Given the description of an element on the screen output the (x, y) to click on. 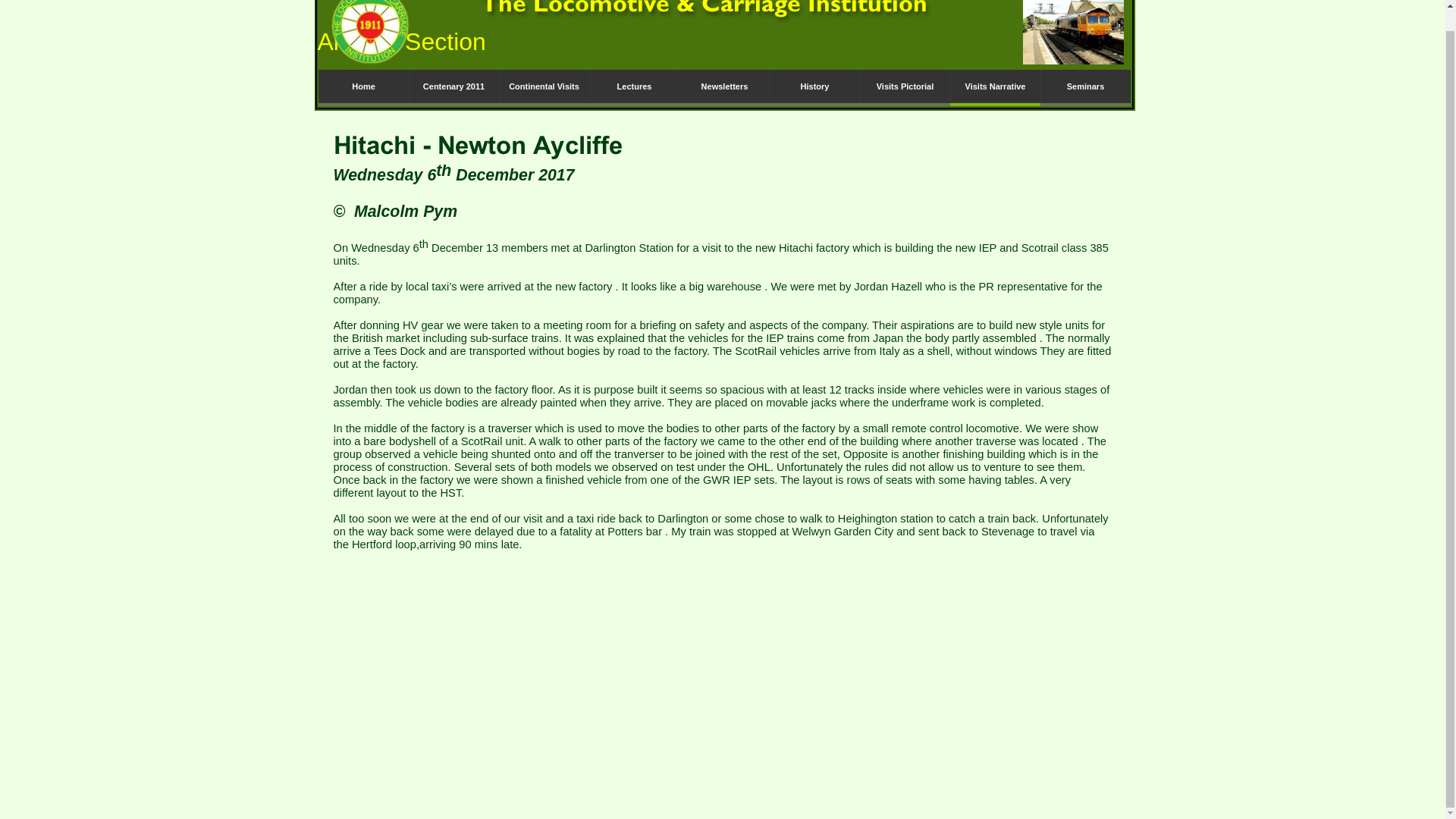
Continental Visits (544, 87)
Newsletters (724, 87)
Centenary 2011 (452, 87)
Seminars (1086, 87)
Lectures (633, 87)
Visits Pictorial (905, 87)
History (813, 87)
Home (363, 87)
Visits Narrative (994, 87)
